Given the description of an element on the screen output the (x, y) to click on. 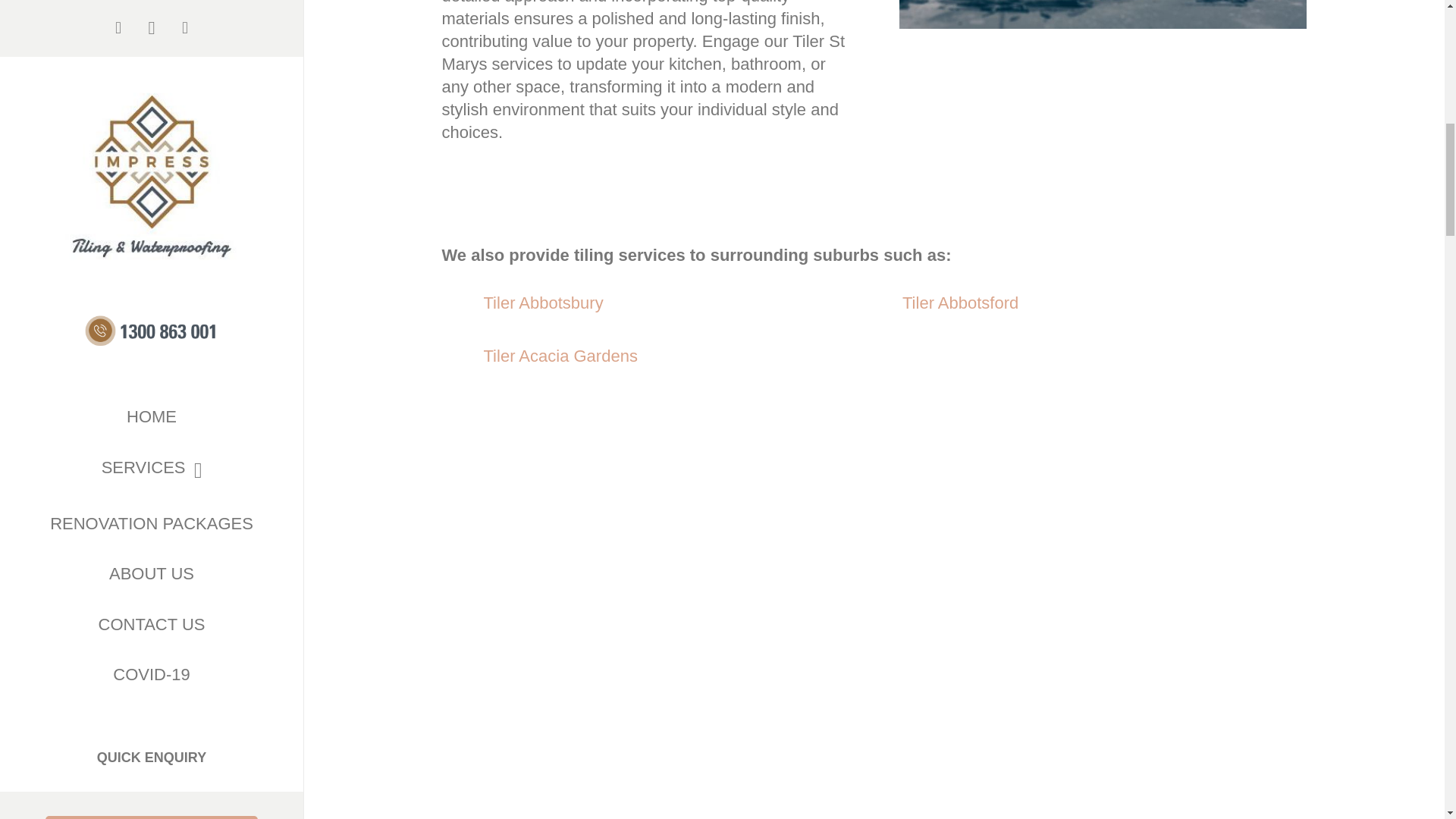
Tiler Abbotsford (959, 302)
Tiler Acacia Gardens (560, 355)
Tiler Abbotsford (959, 302)
Back to top (1413, 26)
Submit (152, 371)
Tiler Abbotsbury (543, 302)
Tiler Acacia Gardens (560, 355)
Tiler Abbotsbury (543, 302)
